Given the description of an element on the screen output the (x, y) to click on. 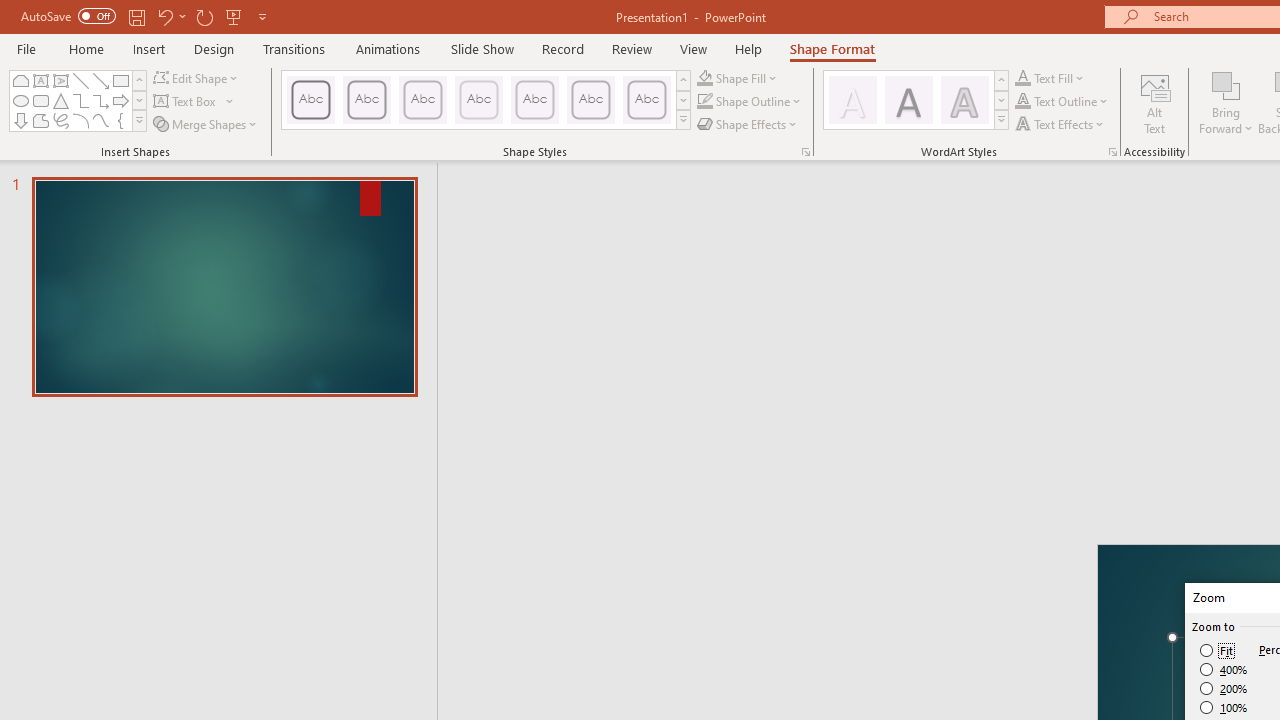
Text Effects (1061, 124)
200% (1224, 688)
Text Fill RGB(0, 0, 0) (1023, 78)
Text Outline RGB(0, 0, 0) (1023, 101)
Colored Outline - Orange, Accent 2 (422, 100)
